Given the description of an element on the screen output the (x, y) to click on. 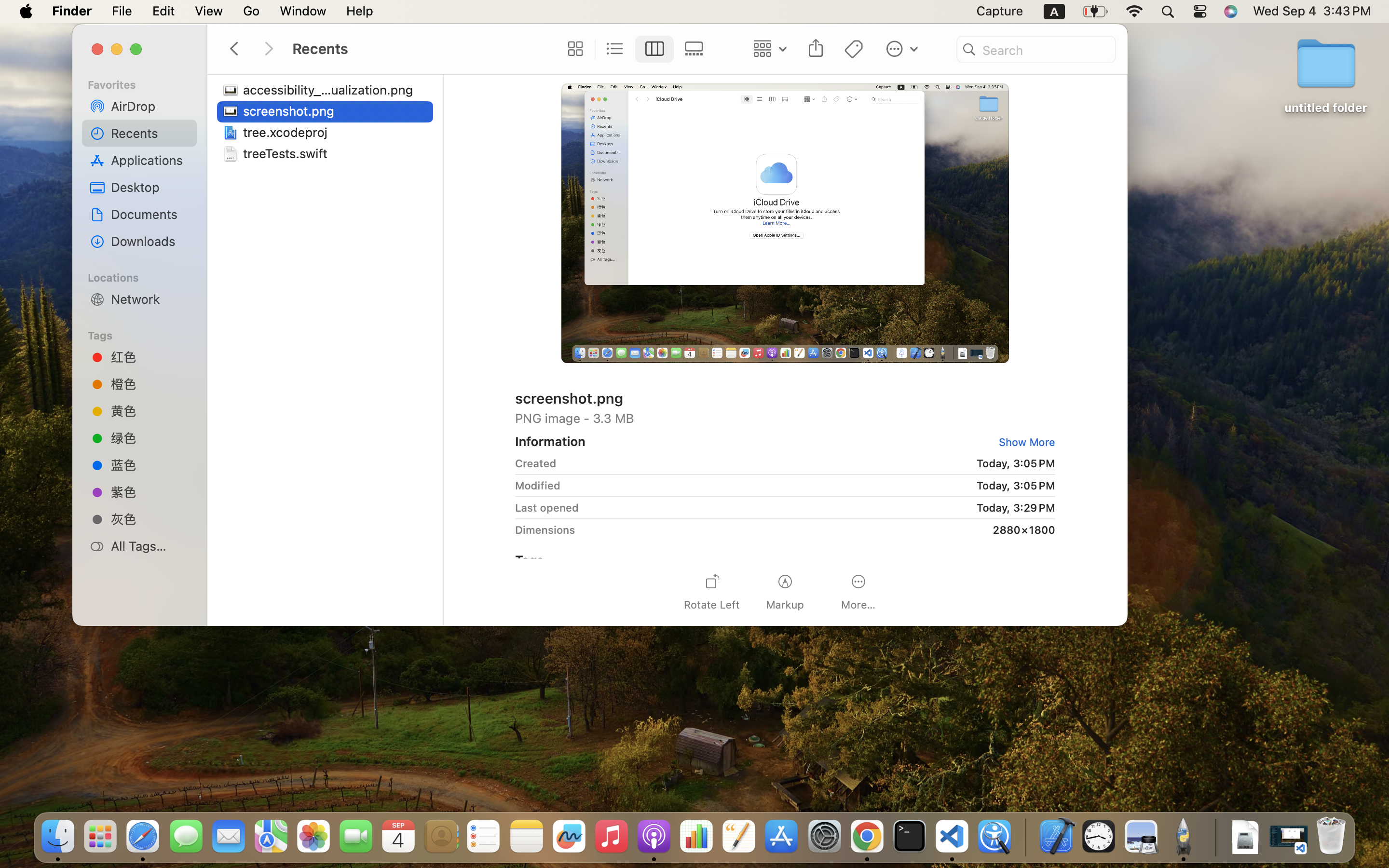
Locations Element type: AXStaticText (144, 276)
Downloads Element type: AXStaticText (149, 240)
0 Element type: AXCheckBox (1024, 441)
Desktop Element type: AXStaticText (149, 186)
accessibility_visualization.png Element type: AXTextField (330, 89)
